Given the description of an element on the screen output the (x, y) to click on. 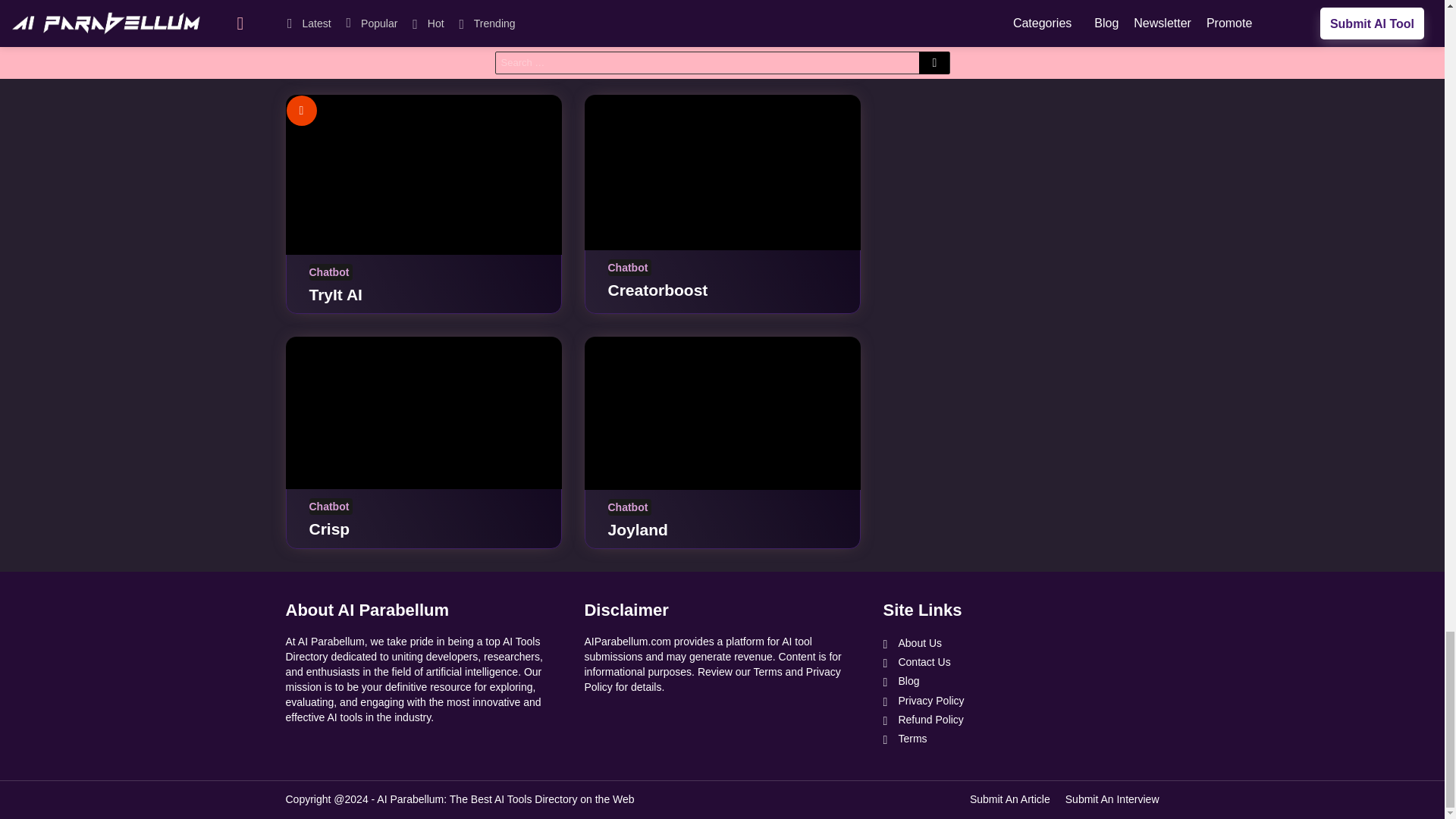
Glov (422, 6)
Creatorboost (721, 172)
Chatbot (630, 30)
Glov (326, 52)
TryIt AI (422, 174)
Joyland (721, 412)
AskLegal.bot (721, 6)
Hot (301, 110)
AskLegal.bot (657, 52)
Chatbot (330, 30)
Crisp (422, 412)
